Given the description of an element on the screen output the (x, y) to click on. 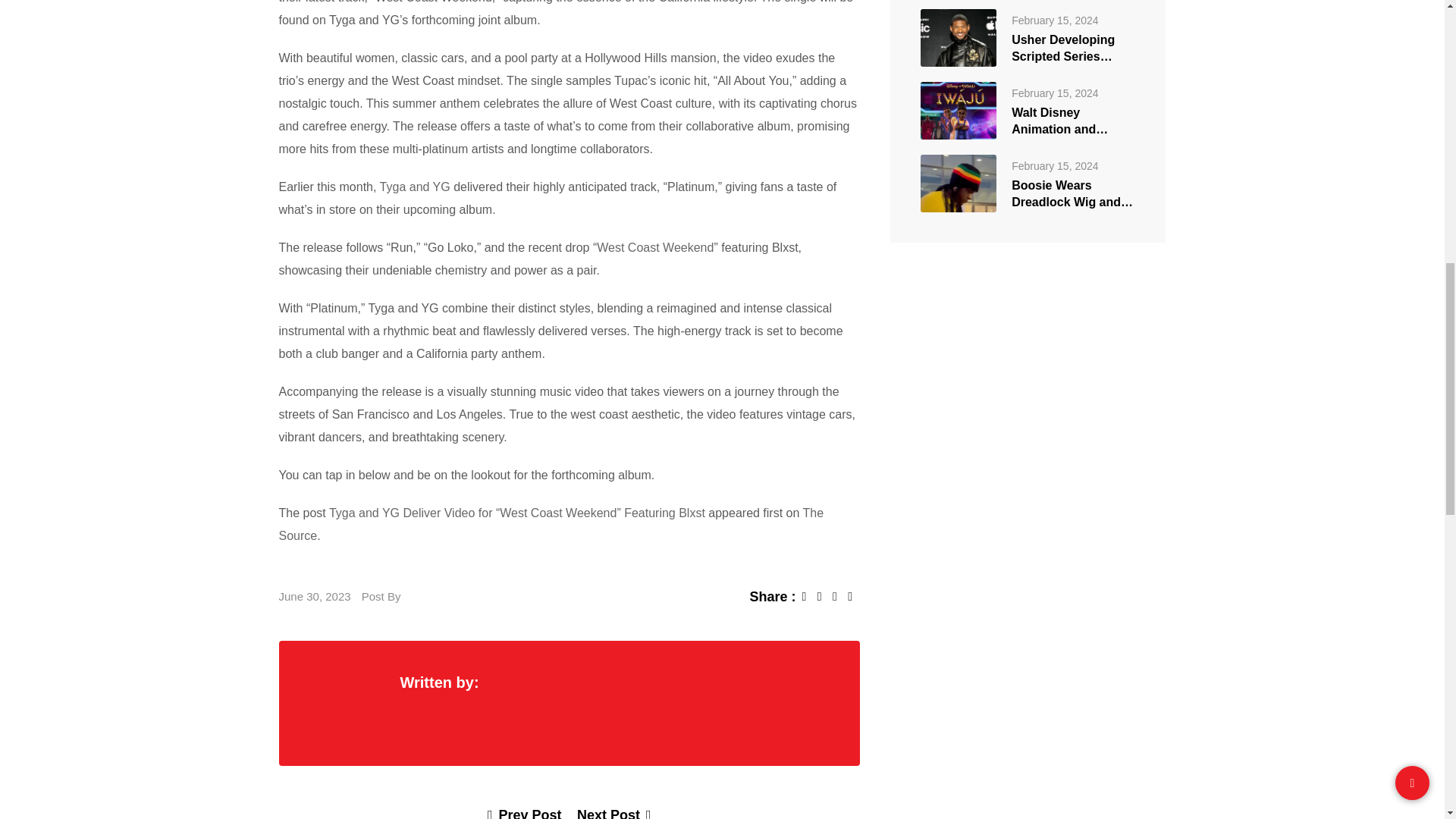
West Coast Weekend (654, 246)
LinkedIn (839, 595)
Boosie Wears Dreadlock Wig and Rasta Hat to Bob Marley Movie (957, 182)
Prev Post (524, 813)
Tyga and YG (414, 186)
Next Post (613, 813)
Share via Email (853, 595)
The Source (551, 524)
